Given the description of an element on the screen output the (x, y) to click on. 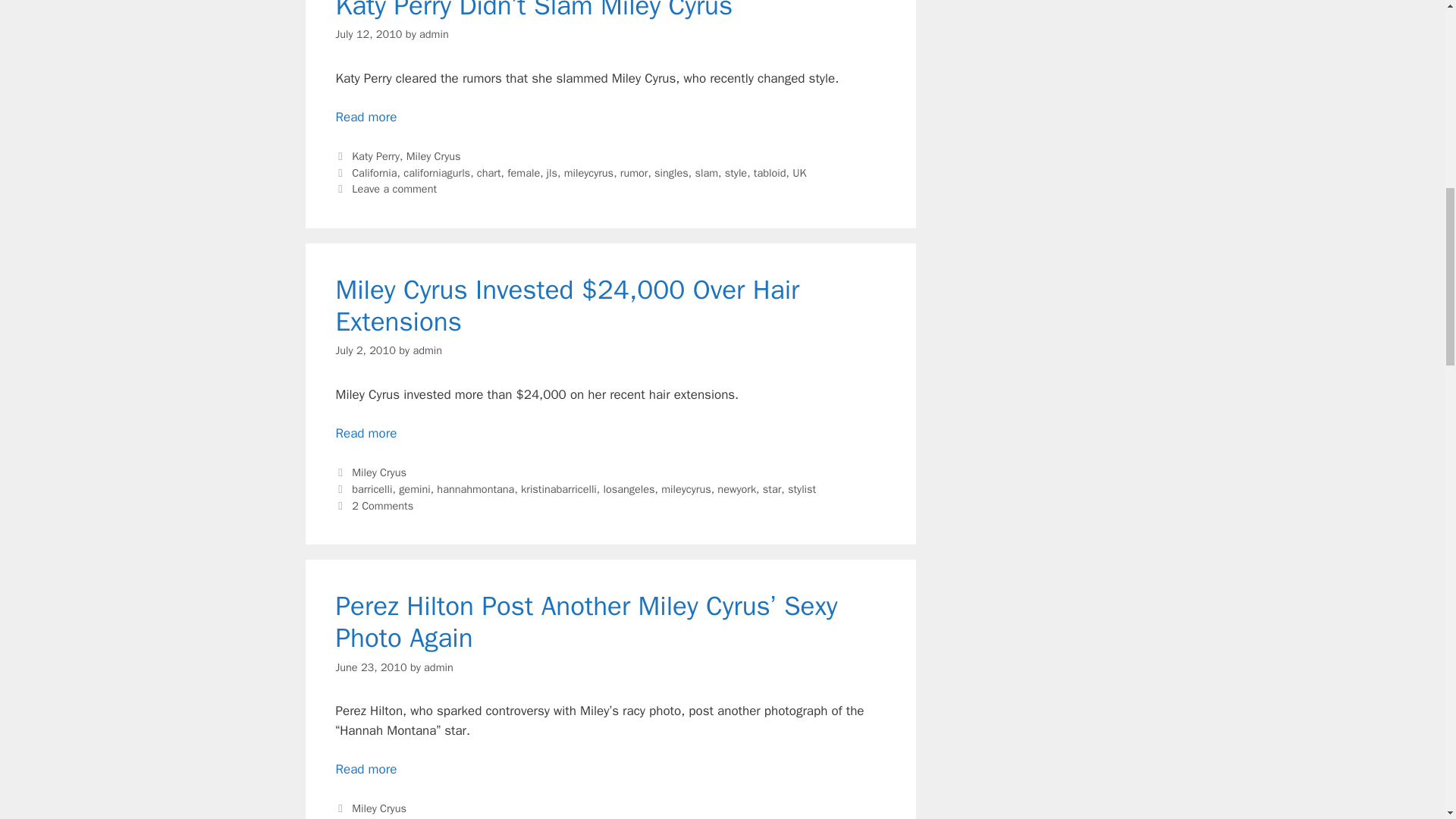
gemini (414, 489)
View all posts by admin (427, 350)
Read more (365, 116)
California (374, 172)
slam (705, 172)
View all posts by admin (437, 666)
singles (670, 172)
Miley Cryus (379, 472)
Read more (365, 433)
Miley Cryus (433, 155)
admin (427, 350)
style (735, 172)
hannahmontana (474, 489)
Leave a comment (394, 188)
rumor (633, 172)
